Given the description of an element on the screen output the (x, y) to click on. 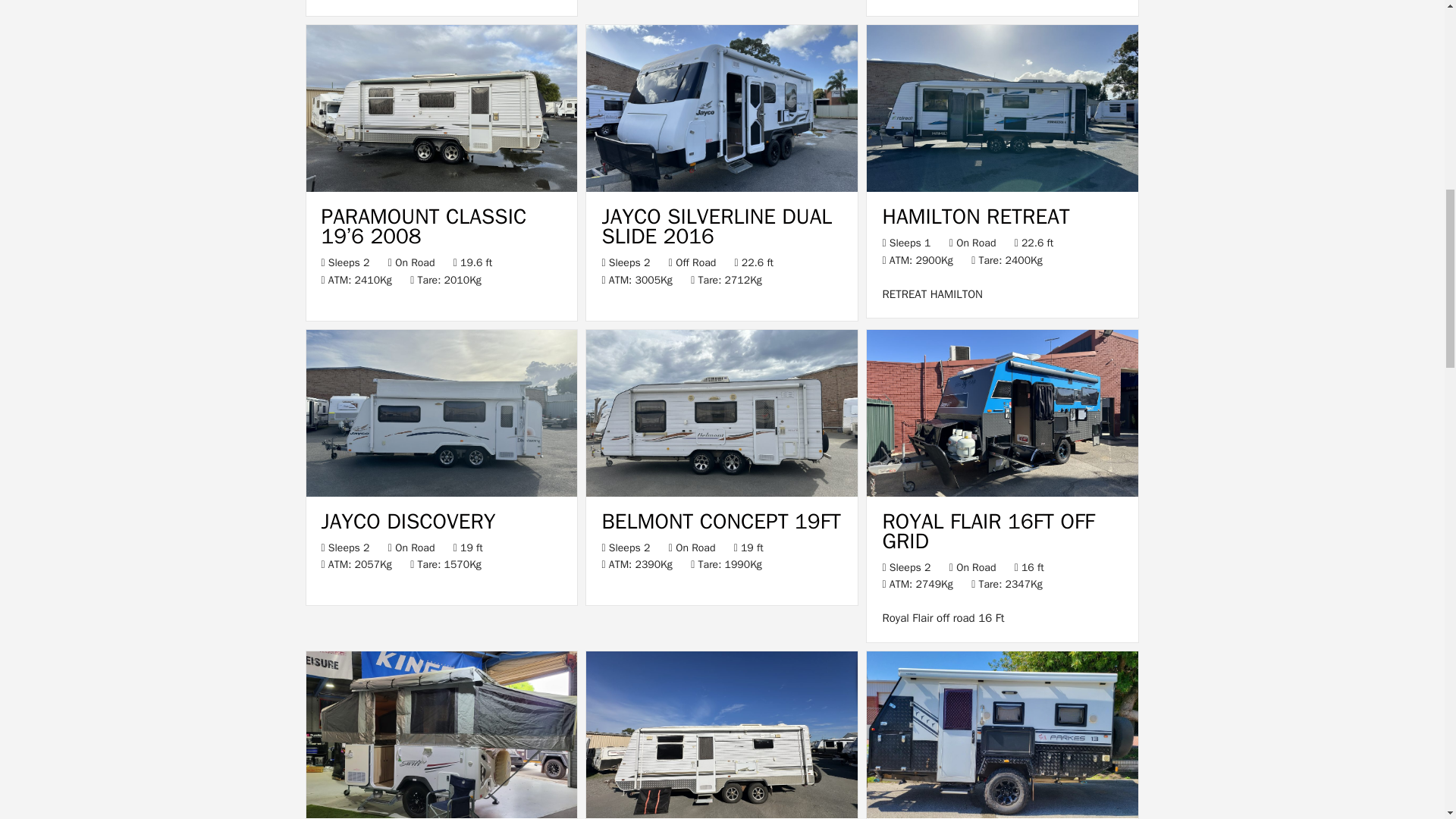
JAYCO DISCOVERY (441, 492)
HAMILTON RETREAT (975, 216)
JAYCO DISCOVERY (408, 520)
JAYCO DISCOVERY (408, 520)
HAMILTON RETREAT (975, 216)
HAMILTON RETREAT (1002, 187)
JAYCO SILVERLINE DUAL SLIDE 2016 (716, 226)
JAYCO SILVERLINE DUAL SLIDE 2016 (721, 187)
JAYCO SILVERLINE DUAL SLIDE 2016 (716, 226)
